Given the description of an element on the screen output the (x, y) to click on. 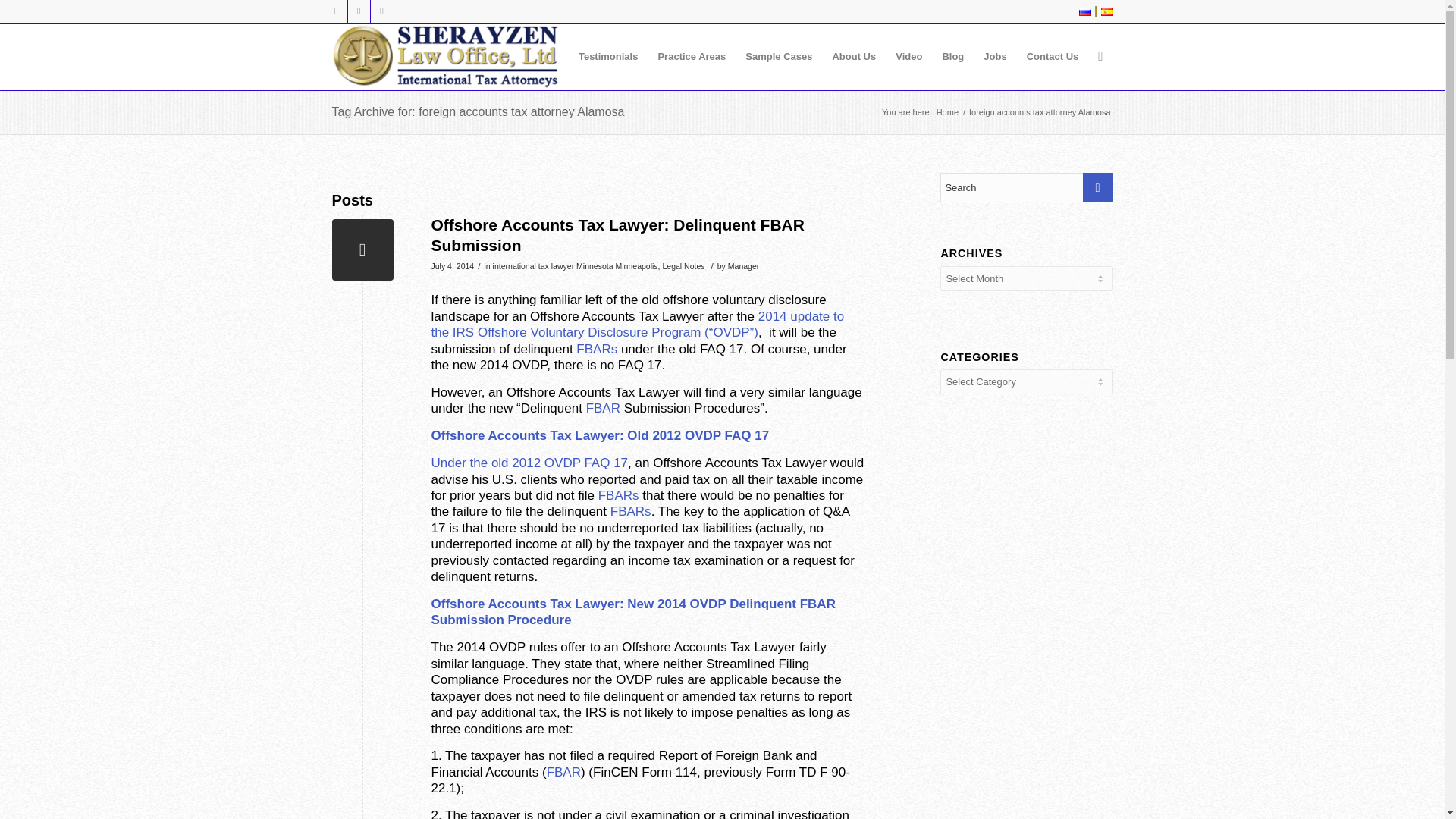
Offshore Accounts Tax Lawyer: Delinquent FBAR Submission (616, 234)
Offshore Accounts Tax Lawyer: Delinquent FBAR Submission (362, 249)
FBAR (563, 771)
Manager (744, 266)
Sample Cases (778, 56)
Posts by Manager (744, 266)
FBARs (630, 511)
Tag Archive for: foreign accounts tax attorney Alamosa (477, 111)
international tax lawyer Minnesota Minneapolis (575, 266)
Under the old 2012 OVDP FAQ 17 (528, 462)
Sherayzen Law Office (947, 112)
FBARs (596, 349)
Legal Notes (683, 266)
